Given the description of an element on the screen output the (x, y) to click on. 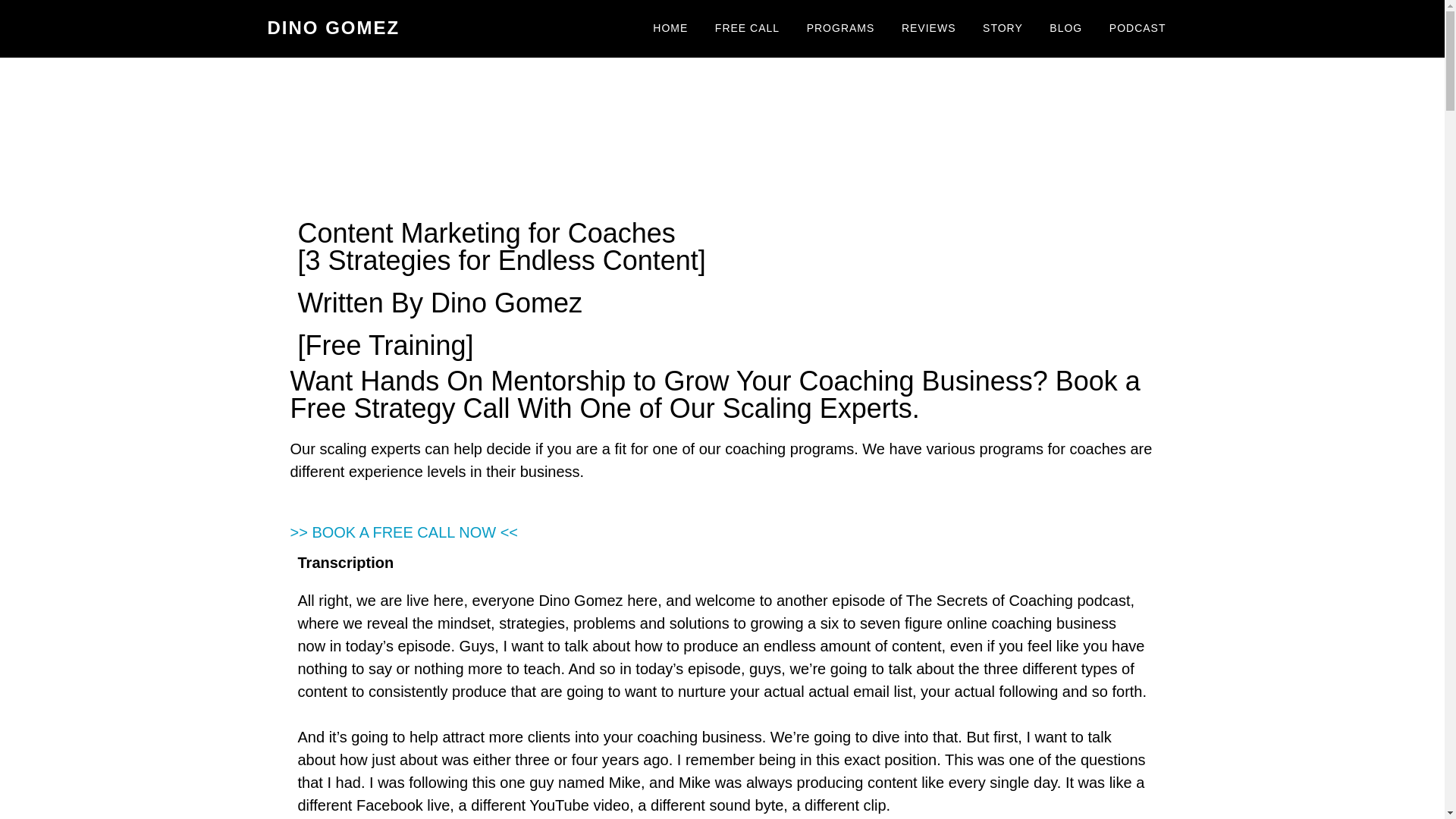
HOME (670, 28)
PROGRAMS (840, 28)
BLOG (1065, 28)
PODCAST (1137, 28)
REVIEWS (928, 28)
DINO GOMEZ (332, 27)
FREE CALL (746, 28)
STORY (1002, 28)
